Given the description of an element on the screen output the (x, y) to click on. 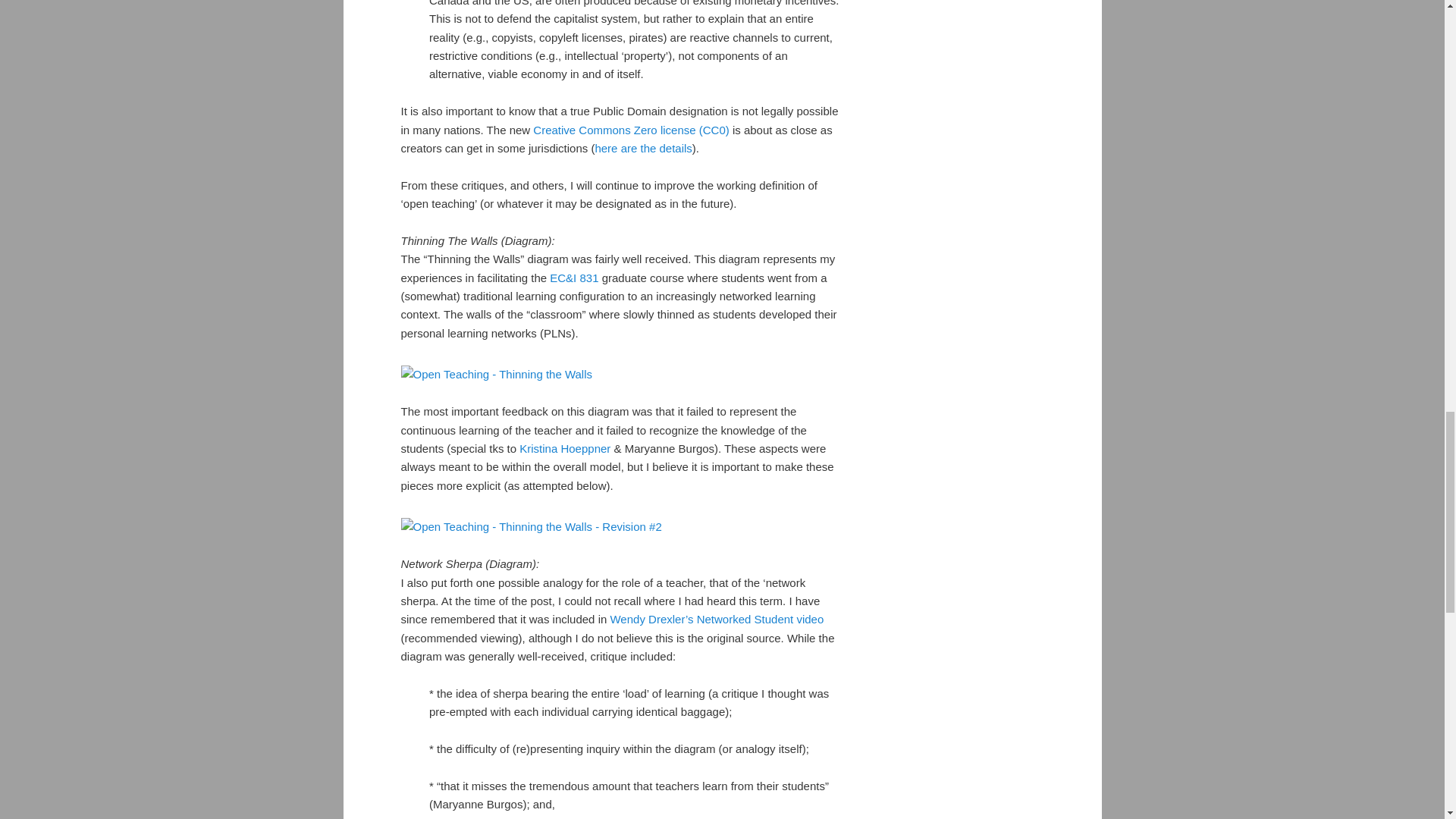
Open Teaching - Thinning the Walls by courosa, on Flickr (496, 373)
Kristina Hoeppner (564, 448)
here are the details (642, 147)
